Given the description of an element on the screen output the (x, y) to click on. 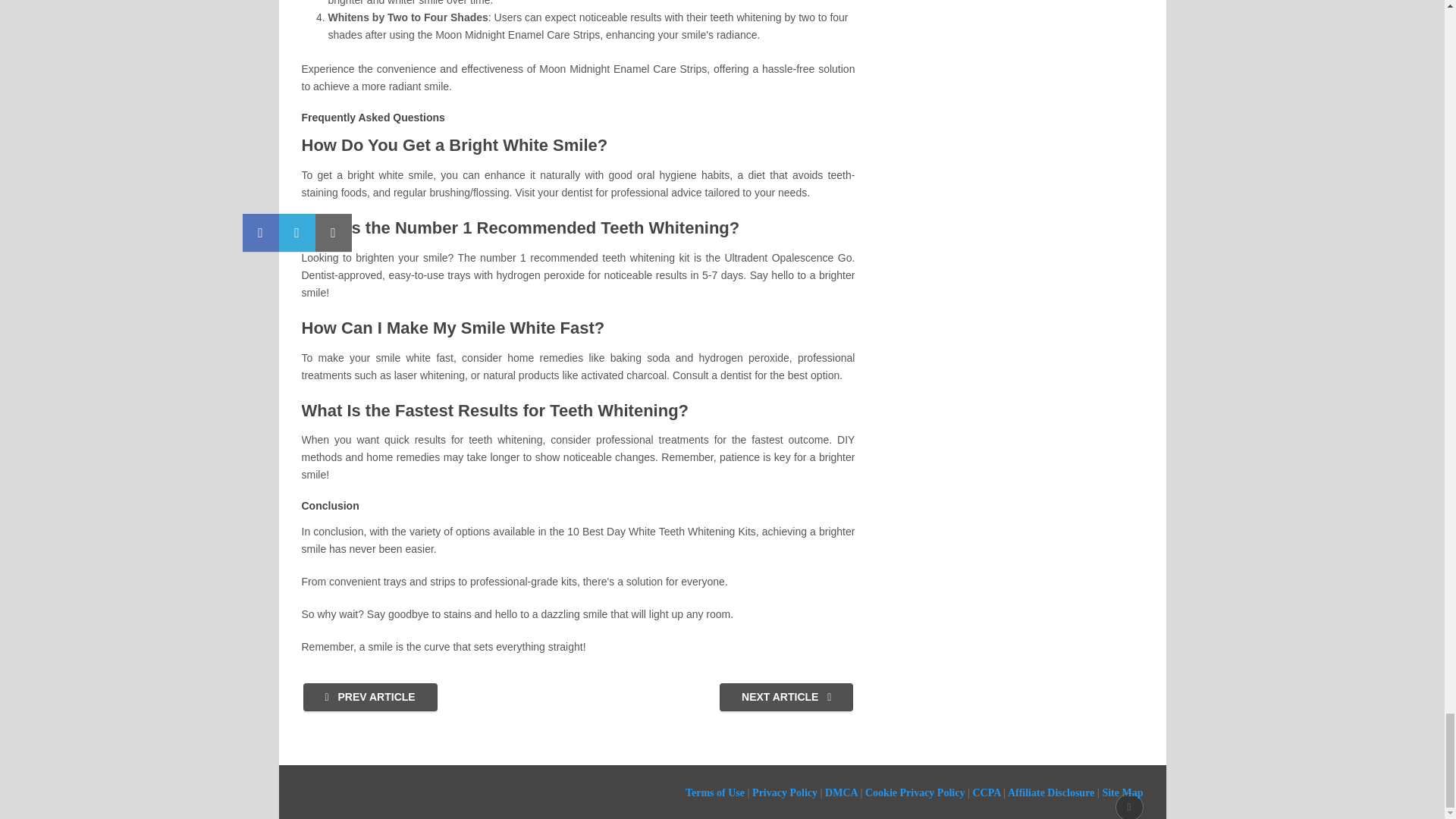
NEXT ARTICLE (786, 697)
PREV ARTICLE (370, 697)
